Given the description of an element on the screen output the (x, y) to click on. 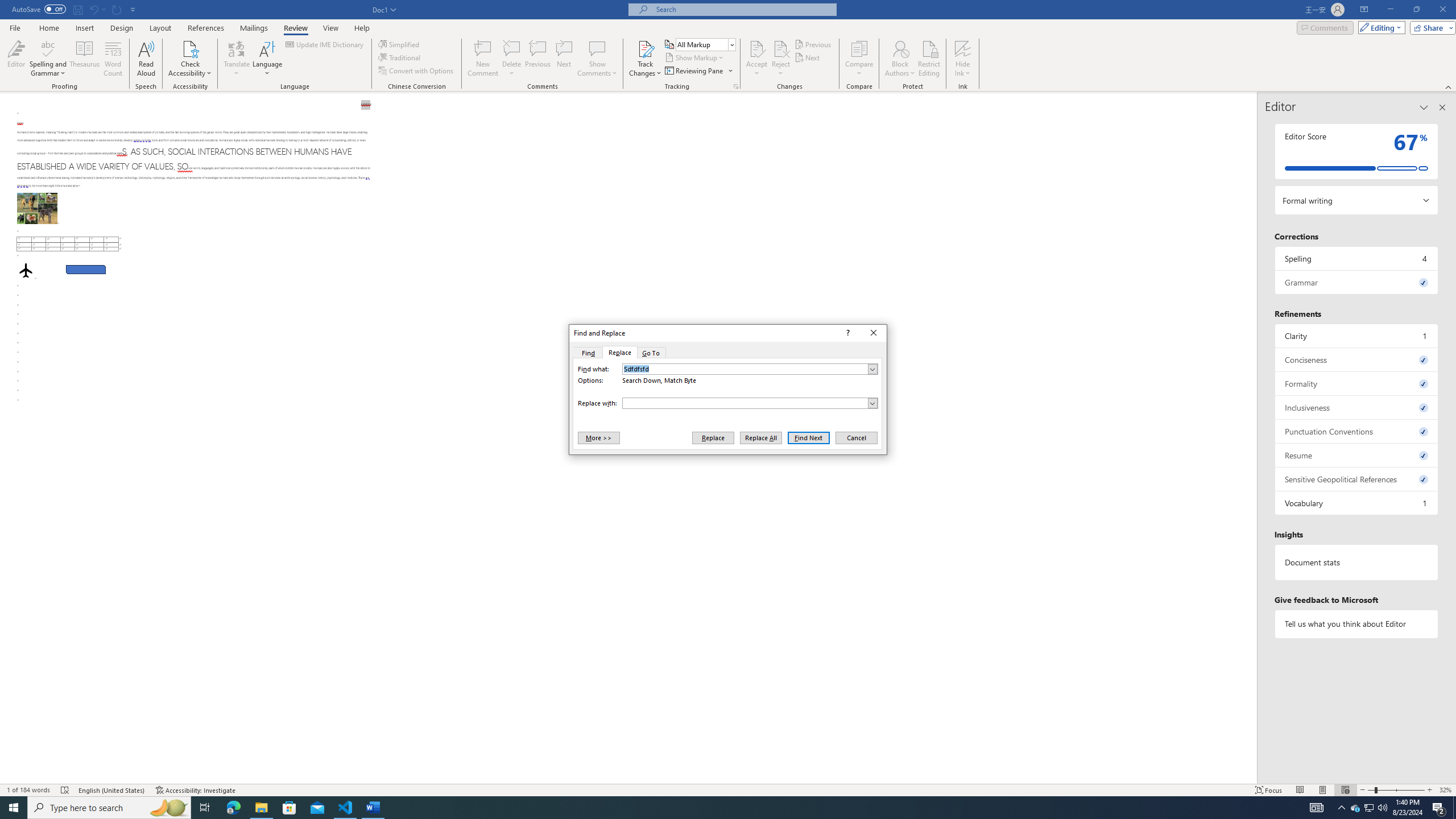
Reject (780, 58)
Read Aloud (145, 58)
Grammar, 0 issues. Press space or enter to review items. (1356, 282)
Find Next (808, 437)
Spelling and Grammar Check Errors (65, 790)
New Comment (482, 58)
Resume, 0 issues. Press space or enter to review items. (1356, 454)
Reviewing Pane (694, 69)
Update IME Dictionary... (324, 44)
Cancel (855, 437)
